Given the description of an element on the screen output the (x, y) to click on. 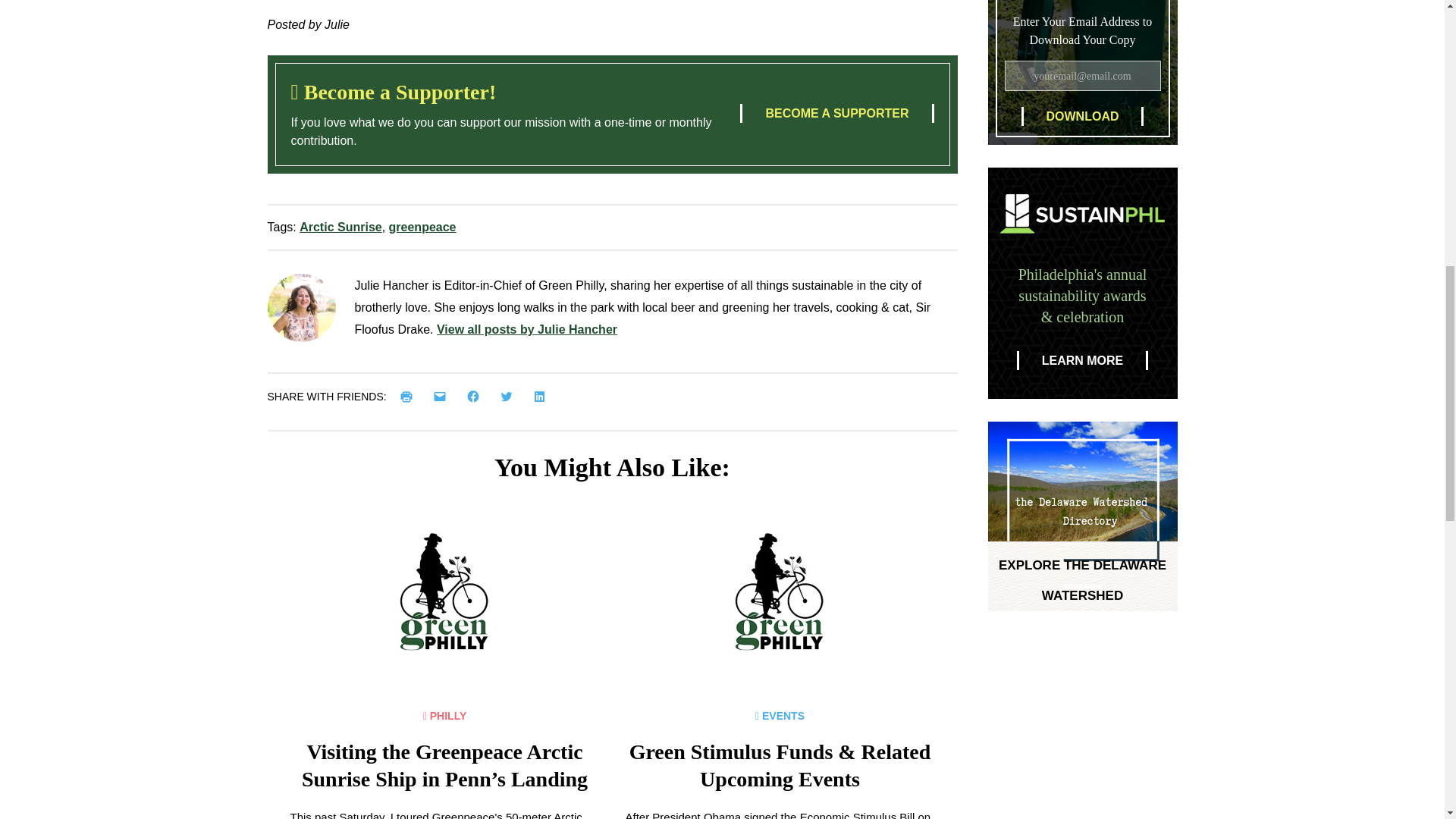
download (1081, 116)
Click to share on Facebook (476, 395)
Click to print (409, 395)
Click to email a link to a friend (443, 395)
Click to share on Twitter (509, 395)
